Given the description of an element on the screen output the (x, y) to click on. 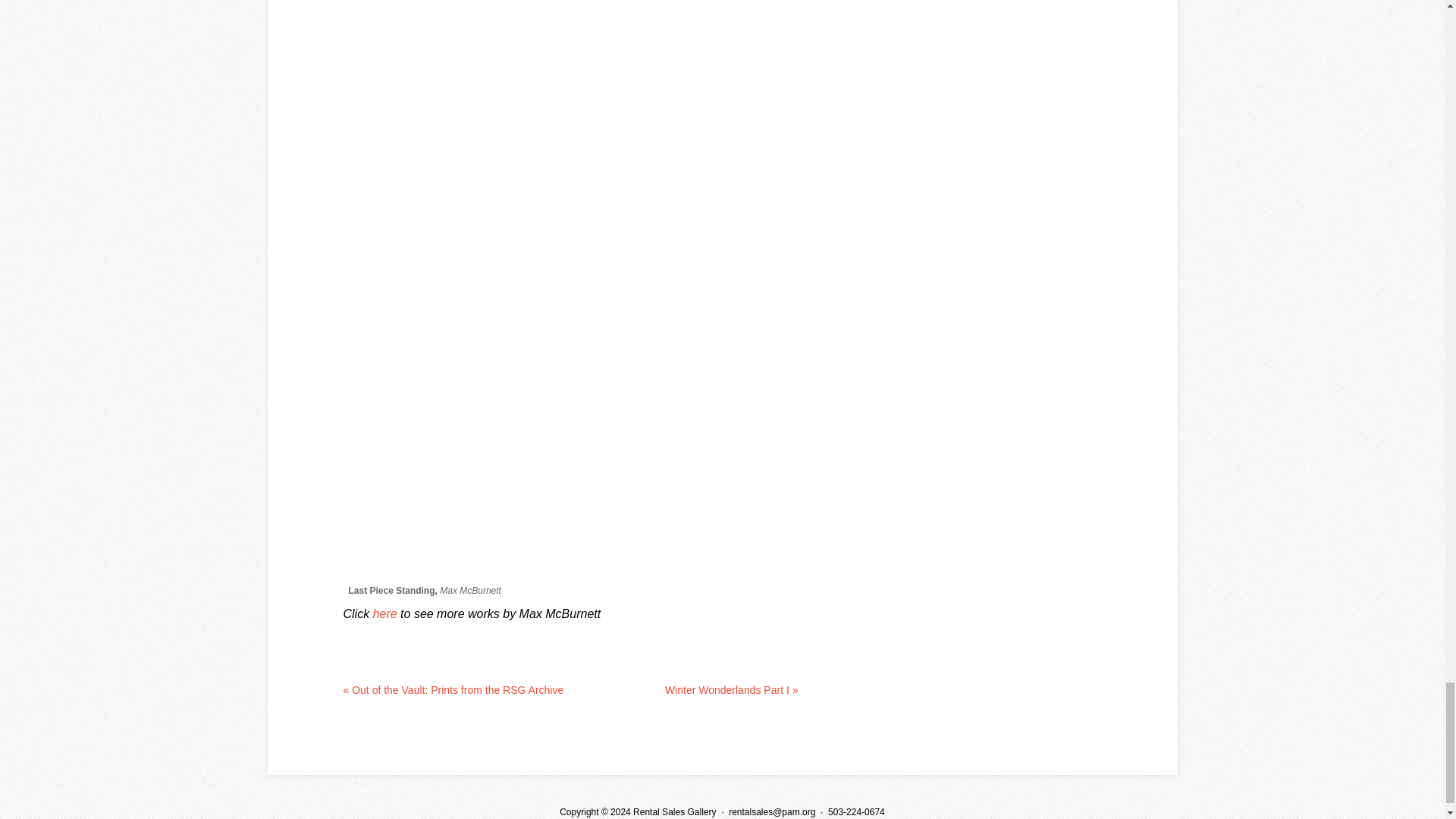
here (384, 613)
